Given the description of an element on the screen output the (x, y) to click on. 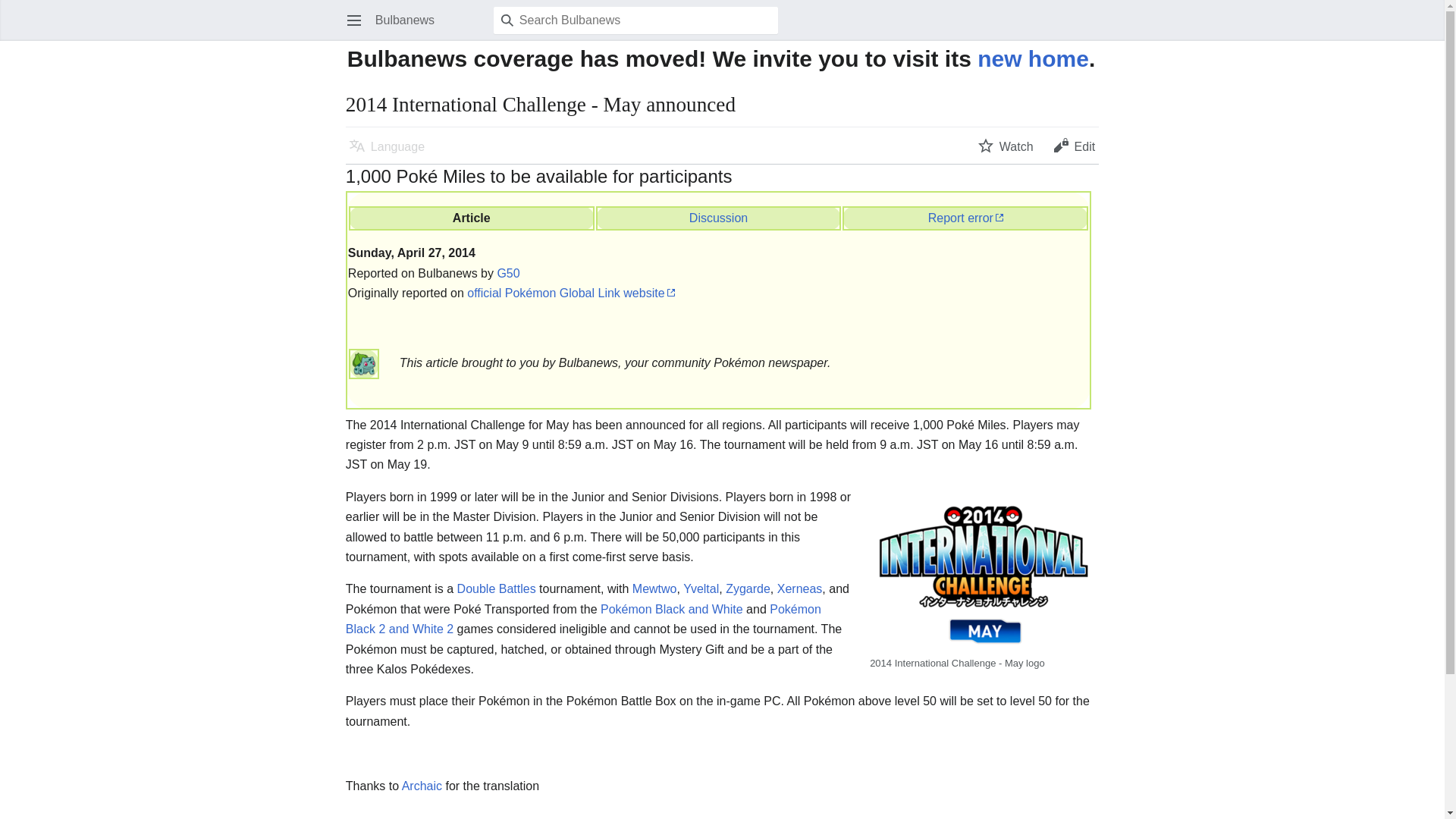
bp:Double Battle (496, 588)
Mewtwo (654, 588)
User:G50 (507, 273)
Edit (1074, 144)
new home (1032, 58)
Archaic (421, 785)
Xerneas (799, 588)
Report error (965, 217)
Yveltal (700, 588)
Language (386, 144)
